Given the description of an element on the screen output the (x, y) to click on. 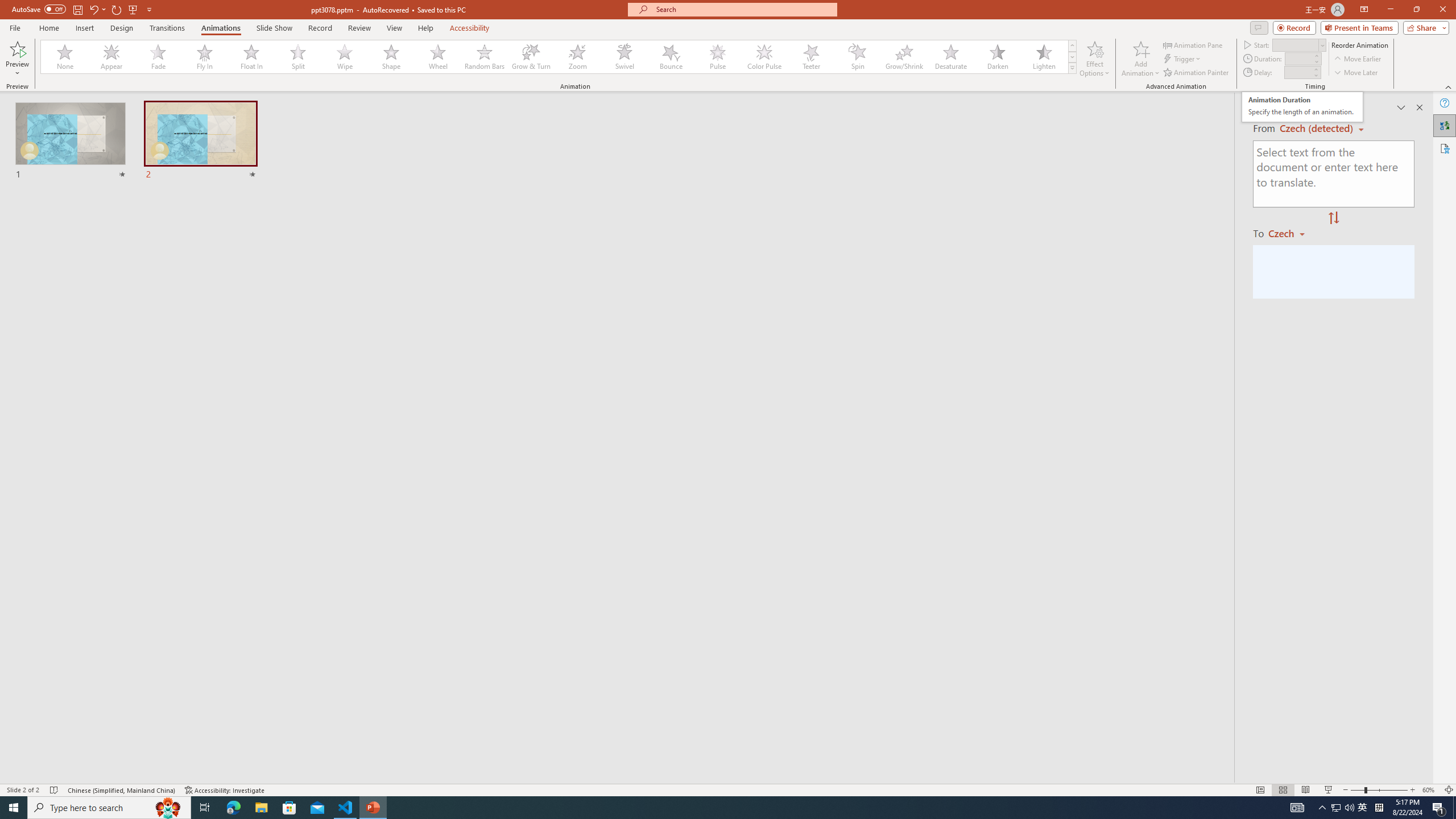
Swivel (624, 56)
Move Later (1355, 72)
Pulse (717, 56)
Animation Pane (1193, 44)
Czech (1291, 232)
